Given the description of an element on the screen output the (x, y) to click on. 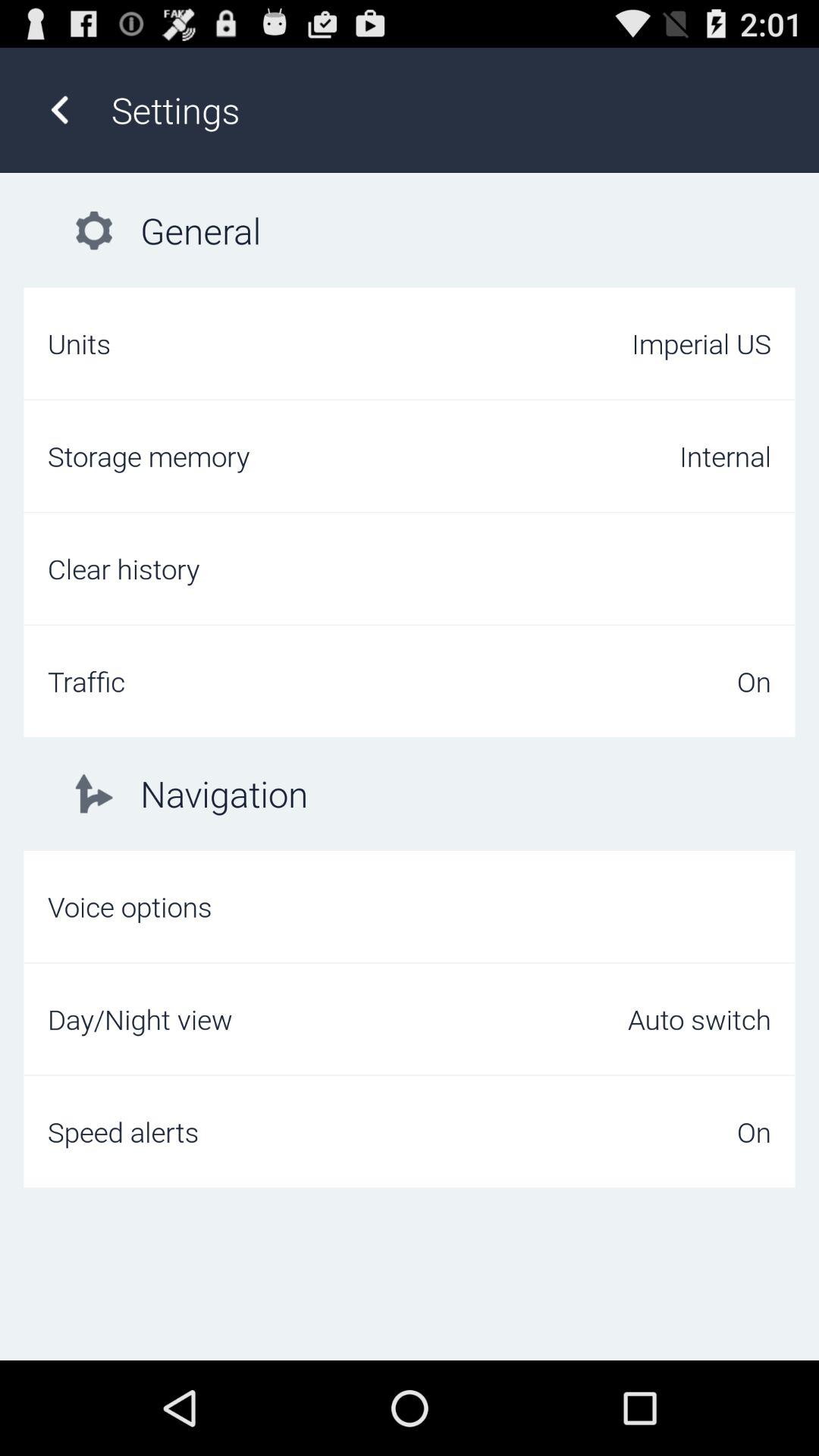
select icon next to settings (59, 109)
